Given the description of an element on the screen output the (x, y) to click on. 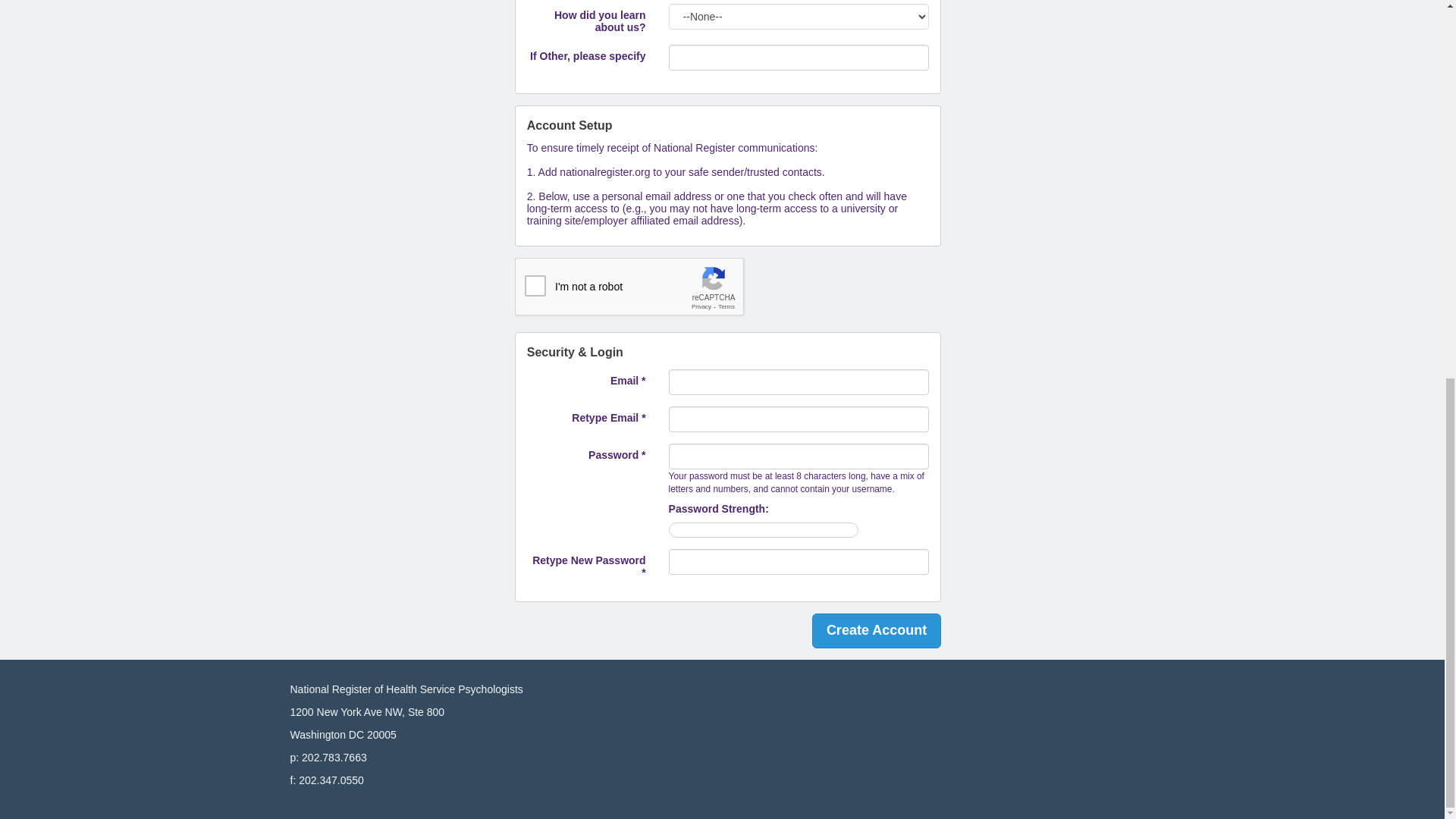
Create Account (876, 630)
reCAPTCHA (630, 286)
Create Account (876, 630)
